Given the description of an element on the screen output the (x, y) to click on. 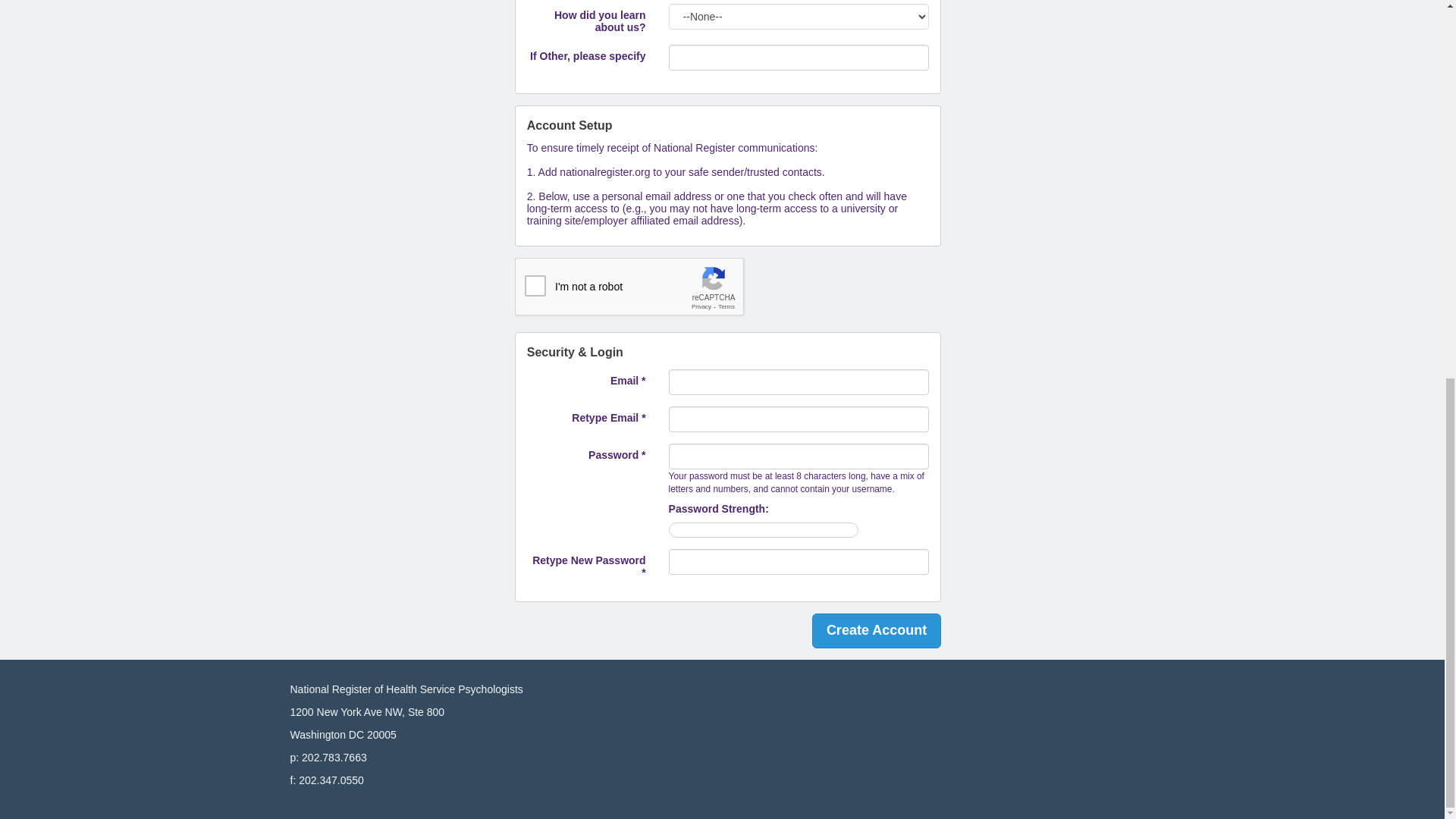
Create Account (876, 630)
reCAPTCHA (630, 286)
Create Account (876, 630)
